Given the description of an element on the screen output the (x, y) to click on. 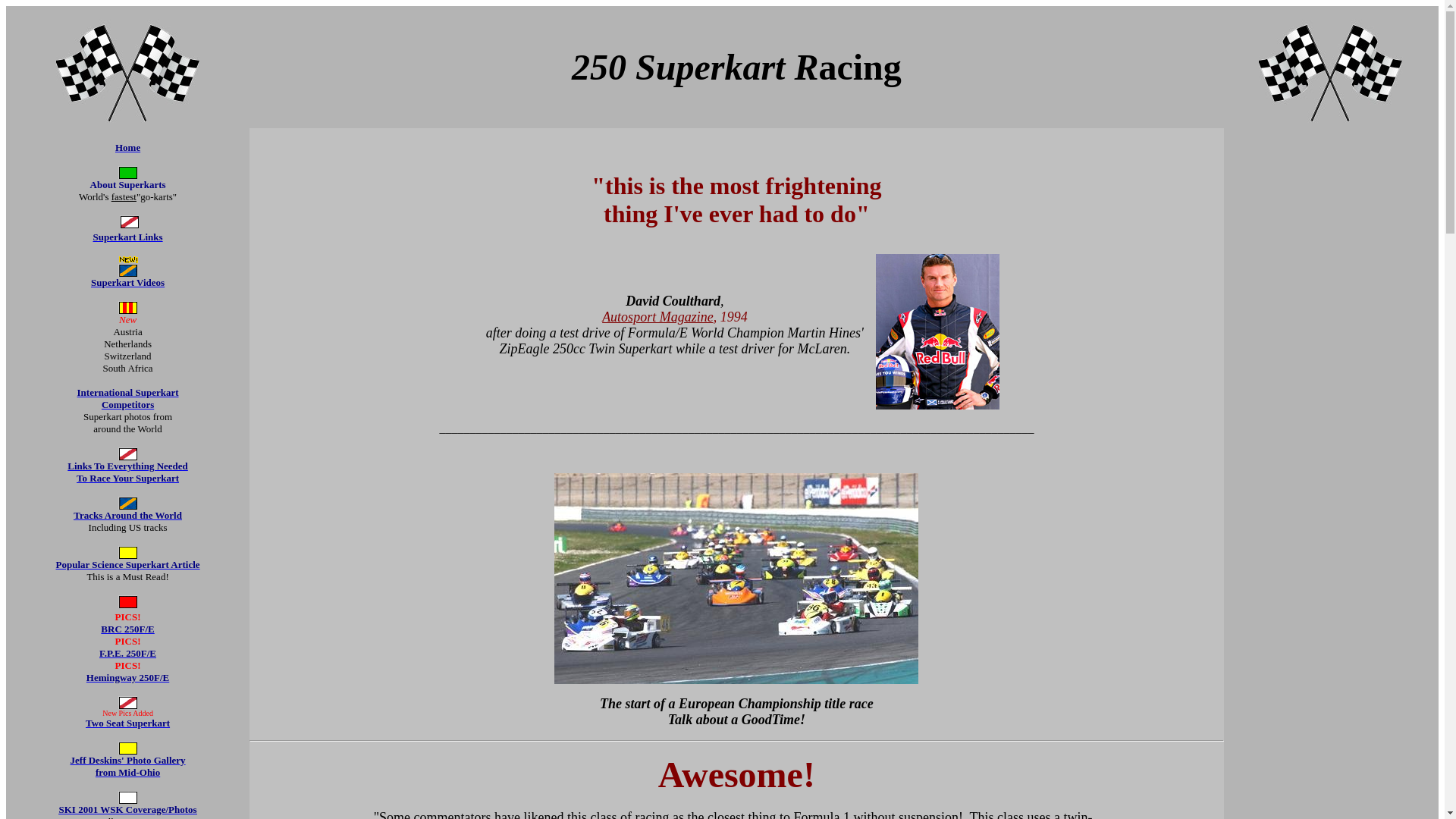
Popular Science Superkart Article Element type: text (128, 564)
Links To Everything Needed Element type: text (127, 465)
To Race Your Superkart Element type: text (127, 477)
Superkart Links Element type: text (127, 235)
BRC 250F/E Element type: text (126, 627)
Home Element type: text (127, 147)
SKI 2001 WSK Coverage/Photos Element type: text (127, 809)
Tracks Around the World Element type: text (127, 514)
International Superkart
Competitors Element type: text (127, 398)
Jeff Deskins' Photo Gallery
from Mid-Ohio Element type: text (127, 765)
Two Seat Superkart Element type: text (127, 721)
Superkart Videos Element type: text (127, 281)
F.P.E. 250F/E Element type: text (127, 659)
Hemingway 250F/E Element type: text (127, 677)
